Given the description of an element on the screen output the (x, y) to click on. 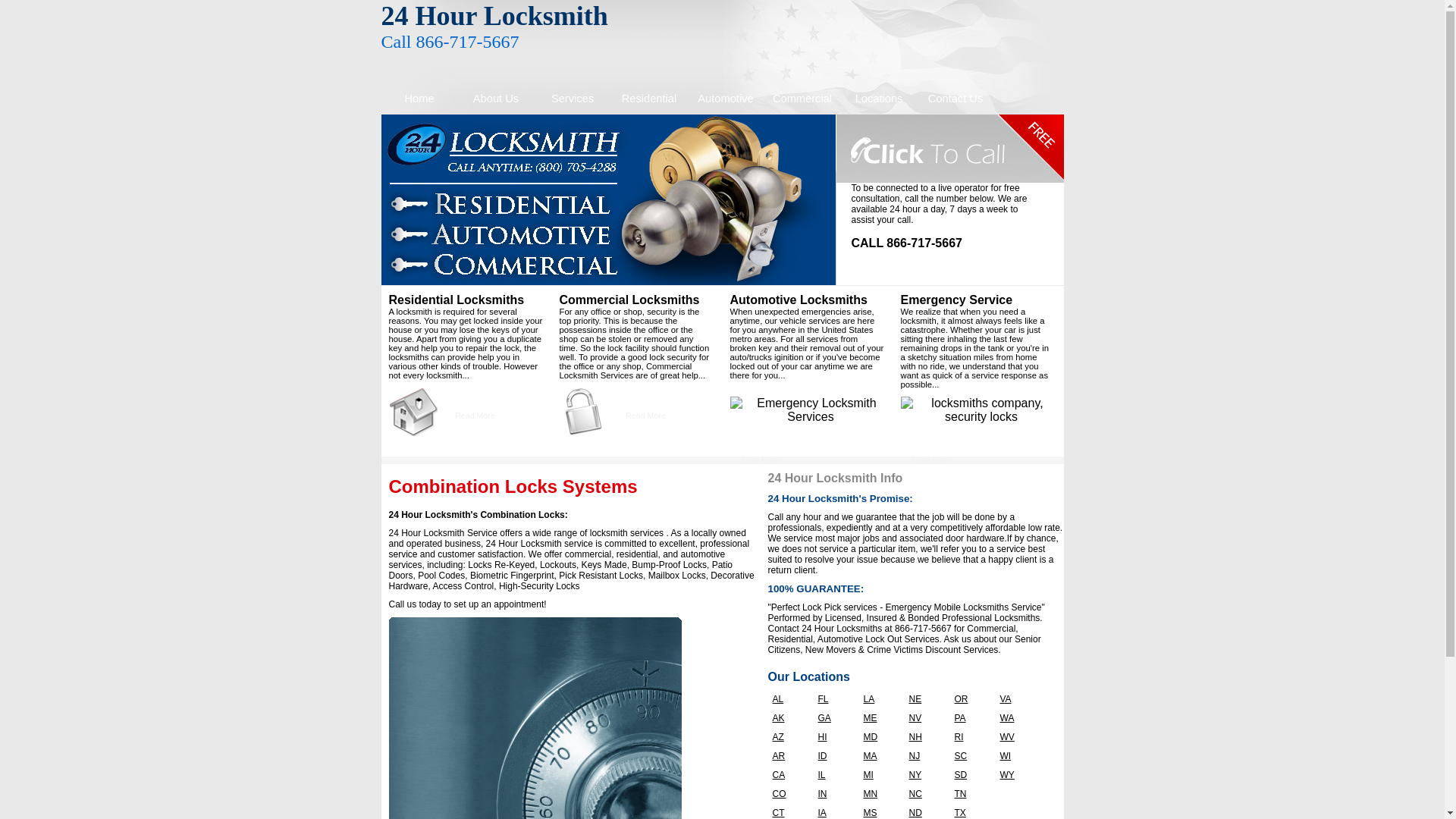
Services Element type: text (571, 98)
WI Element type: text (1015, 755)
IN Element type: text (833, 793)
SD Element type: text (970, 774)
Residential Element type: text (649, 98)
ID Element type: text (833, 755)
OR Element type: text (970, 698)
Click Here Element type: text (759, 459)
NY Element type: text (924, 774)
About Us Element type: text (496, 98)
AL Element type: text (788, 698)
NE Element type: text (924, 698)
Click Here Element type: text (930, 459)
Locations Element type: text (878, 98)
GA Element type: text (833, 717)
AK Element type: text (788, 717)
IL Element type: text (833, 774)
SC Element type: text (970, 755)
RI Element type: text (970, 736)
TN Element type: text (970, 793)
MN Element type: text (879, 793)
VA Element type: text (1015, 698)
FL Element type: text (833, 698)
Residential Locksmiths Element type: hover (412, 411)
Become Sub Contractor Element type: hover (981, 409)
AR Element type: text (788, 755)
Home Element type: text (418, 98)
PA Element type: text (970, 717)
Click to Call 24 Hour Locksmith Element type: hover (949, 148)
MD Element type: text (879, 736)
NH Element type: text (924, 736)
CO Element type: text (788, 793)
Automotive Element type: text (725, 98)
WY Element type: text (1015, 774)
NV Element type: text (924, 717)
WA Element type: text (1015, 717)
ME Element type: text (879, 717)
MA Element type: text (879, 755)
HI Element type: text (833, 736)
Read More Element type: text (474, 415)
MI Element type: text (879, 774)
Read More Element type: text (645, 415)
24 Hour Locksmiths Element type: hover (607, 199)
CA Element type: text (788, 774)
NJ Element type: text (924, 755)
LA Element type: text (879, 698)
Commercial Element type: text (802, 98)
Commercial Locksmiths Element type: hover (583, 411)
NC Element type: text (924, 793)
WV Element type: text (1015, 736)
AZ Element type: text (788, 736)
Become a Member Element type: hover (810, 409)
Contact Us Element type: text (955, 98)
